Given the description of an element on the screen output the (x, y) to click on. 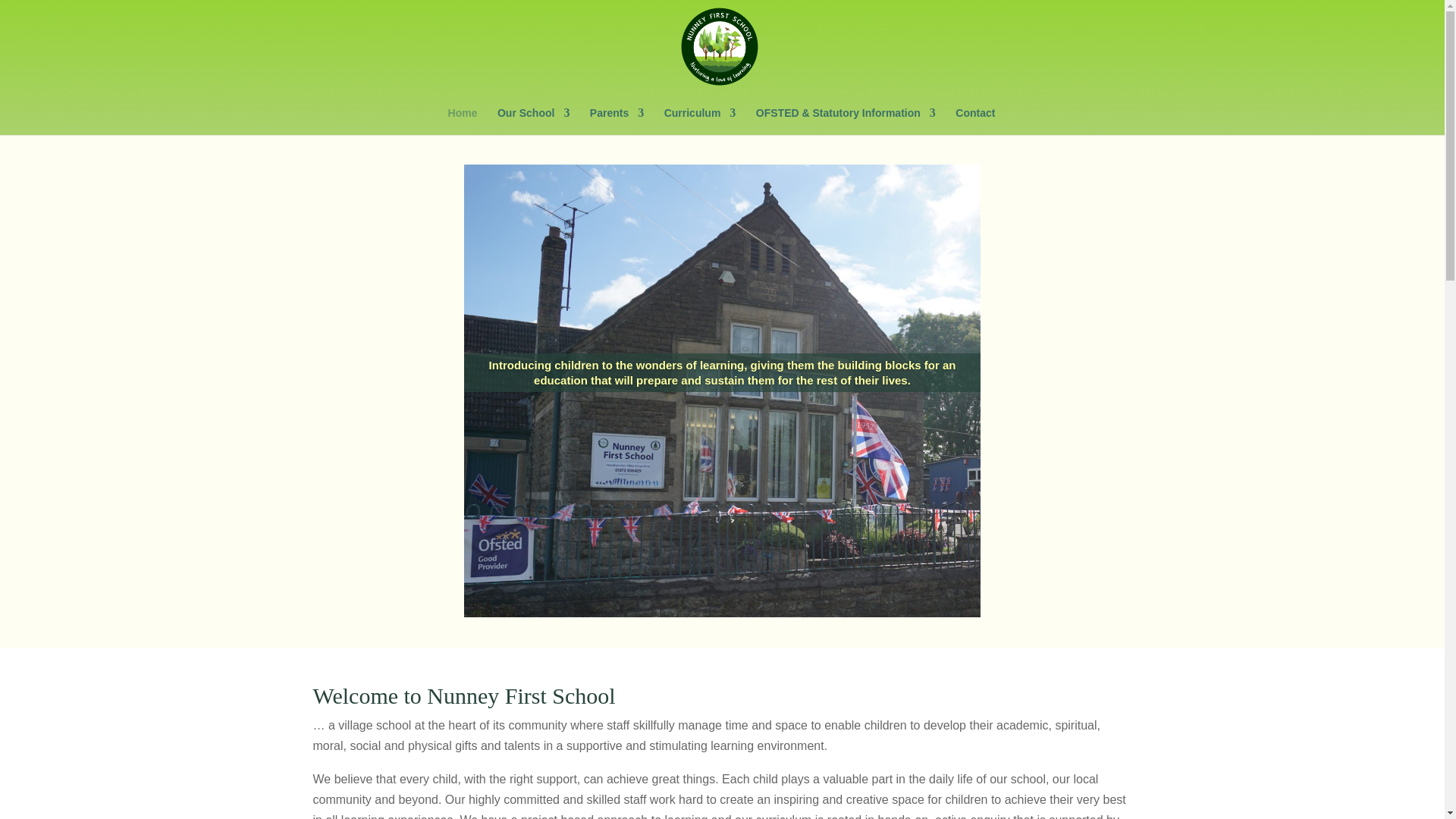
Curriculum (699, 121)
Home (462, 121)
Parents (616, 121)
Our School (533, 121)
